Given the description of an element on the screen output the (x, y) to click on. 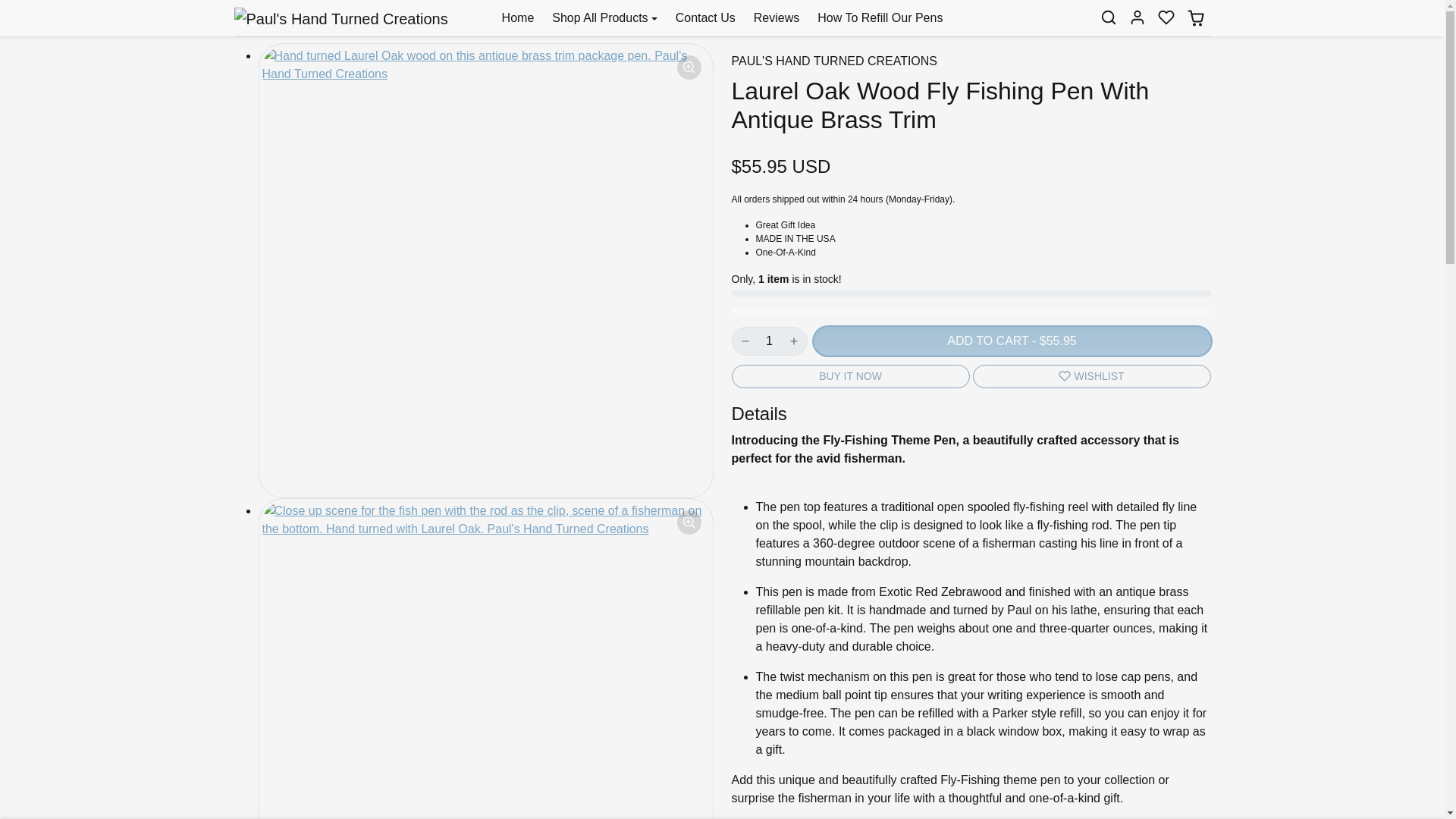
Home (518, 17)
1 (768, 340)
Shop All Products (604, 17)
